Given the description of an element on the screen output the (x, y) to click on. 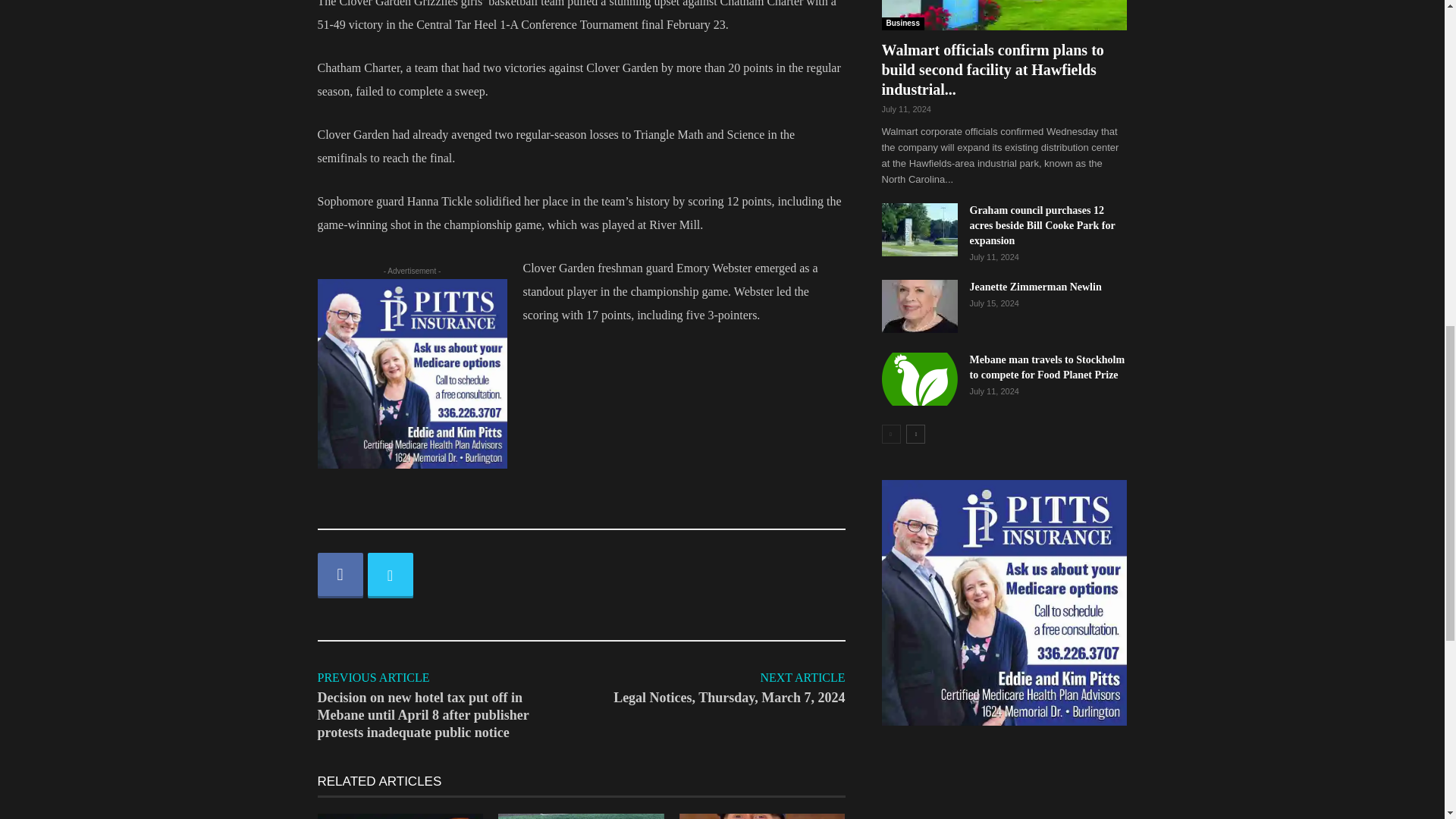
Facebook (339, 575)
Twitter (389, 575)
